Given the description of an element on the screen output the (x, y) to click on. 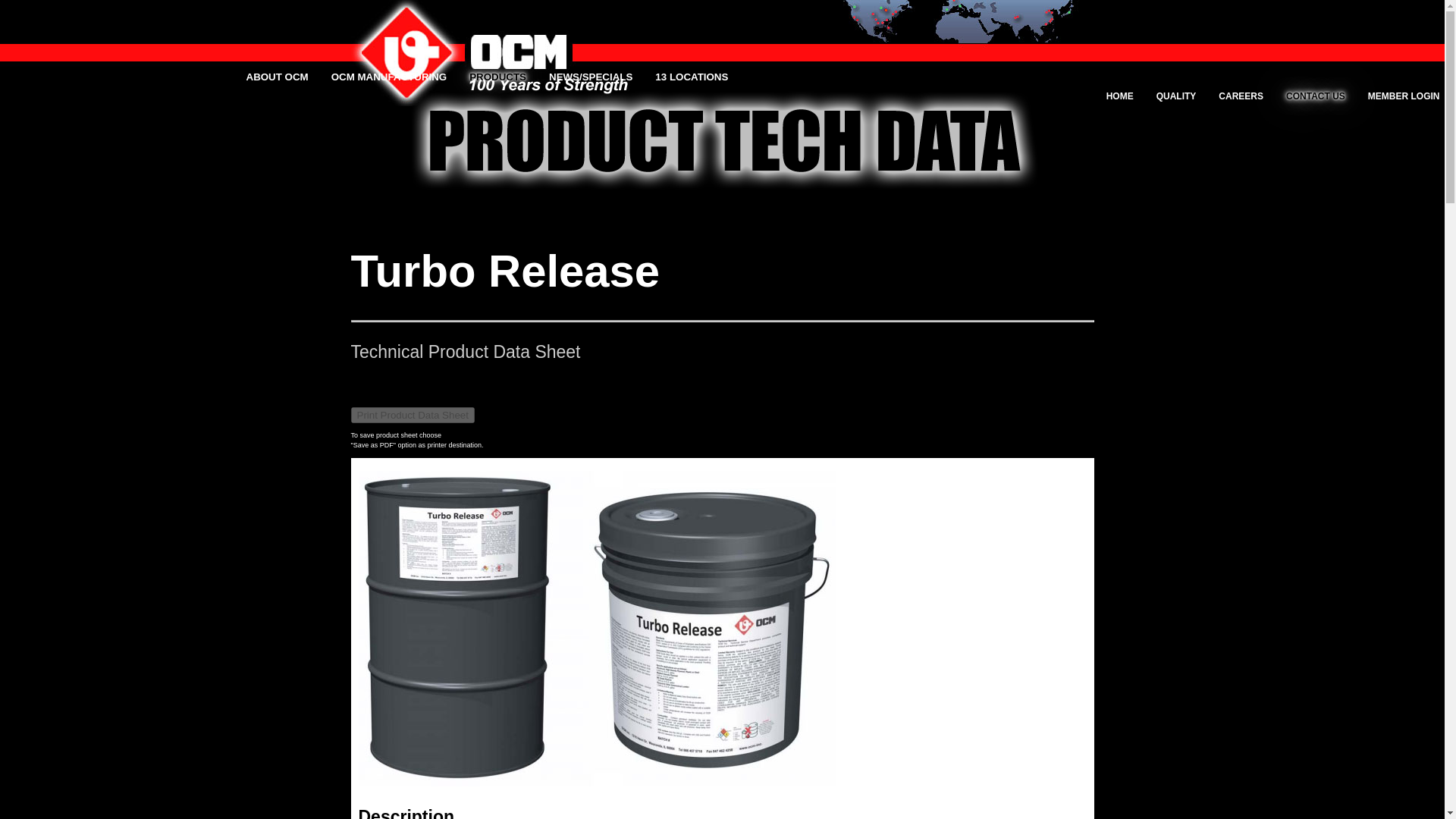
ABOUT OCM (276, 76)
OCM MANUFACTURING (388, 76)
CAREERS (1240, 95)
HOME (1120, 95)
Print Product Data Sheet (412, 415)
PRODUCTS (496, 76)
13 LOCATIONS (691, 76)
Print Product Data Sheet (412, 412)
CONTACT US (1315, 95)
QUALITY (1176, 95)
